Given the description of an element on the screen output the (x, y) to click on. 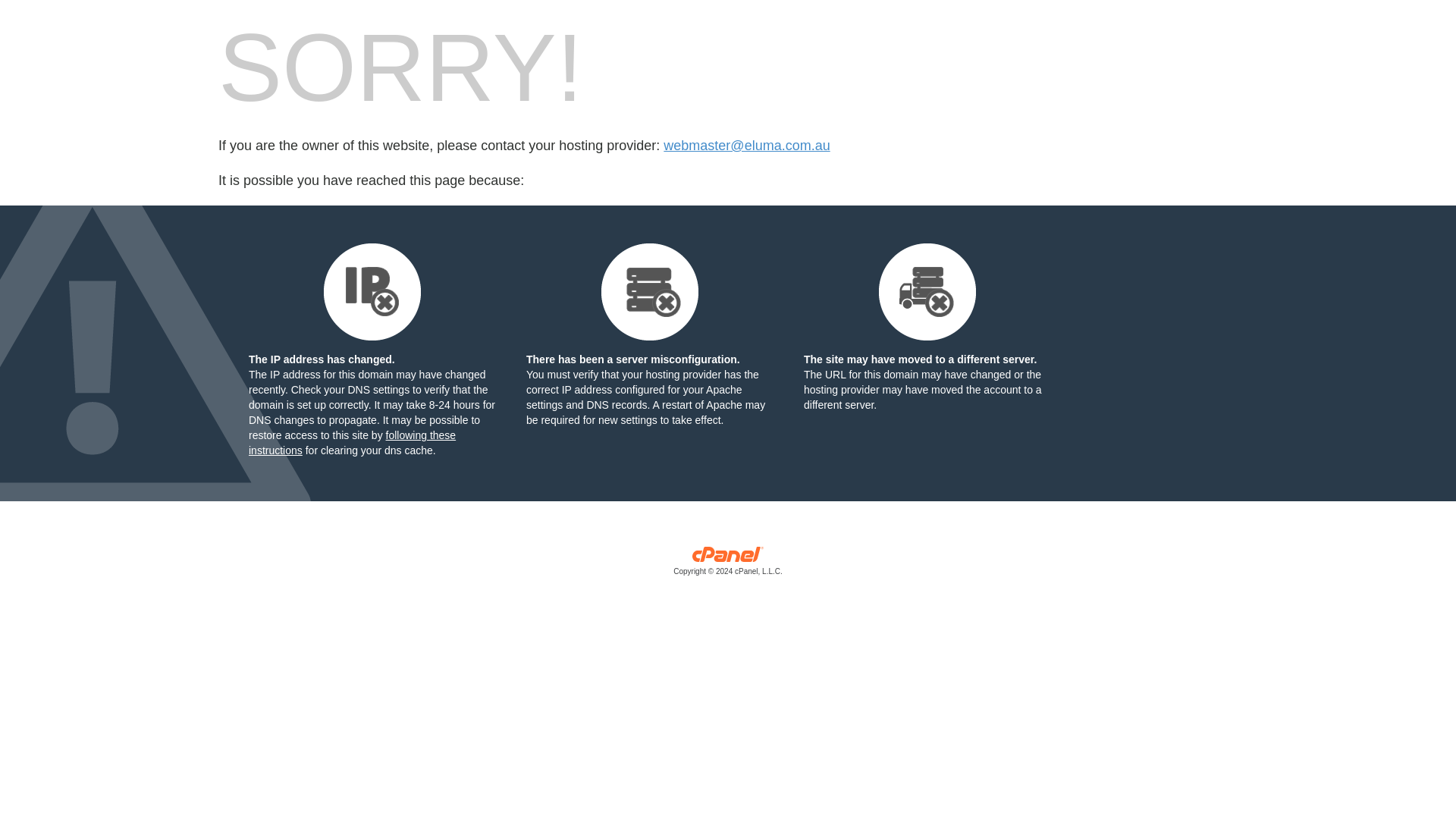
following these instructions (351, 442)
Click this link to contact the host (746, 145)
cPanel, L.L.C. (727, 564)
